Given the description of an element on the screen output the (x, y) to click on. 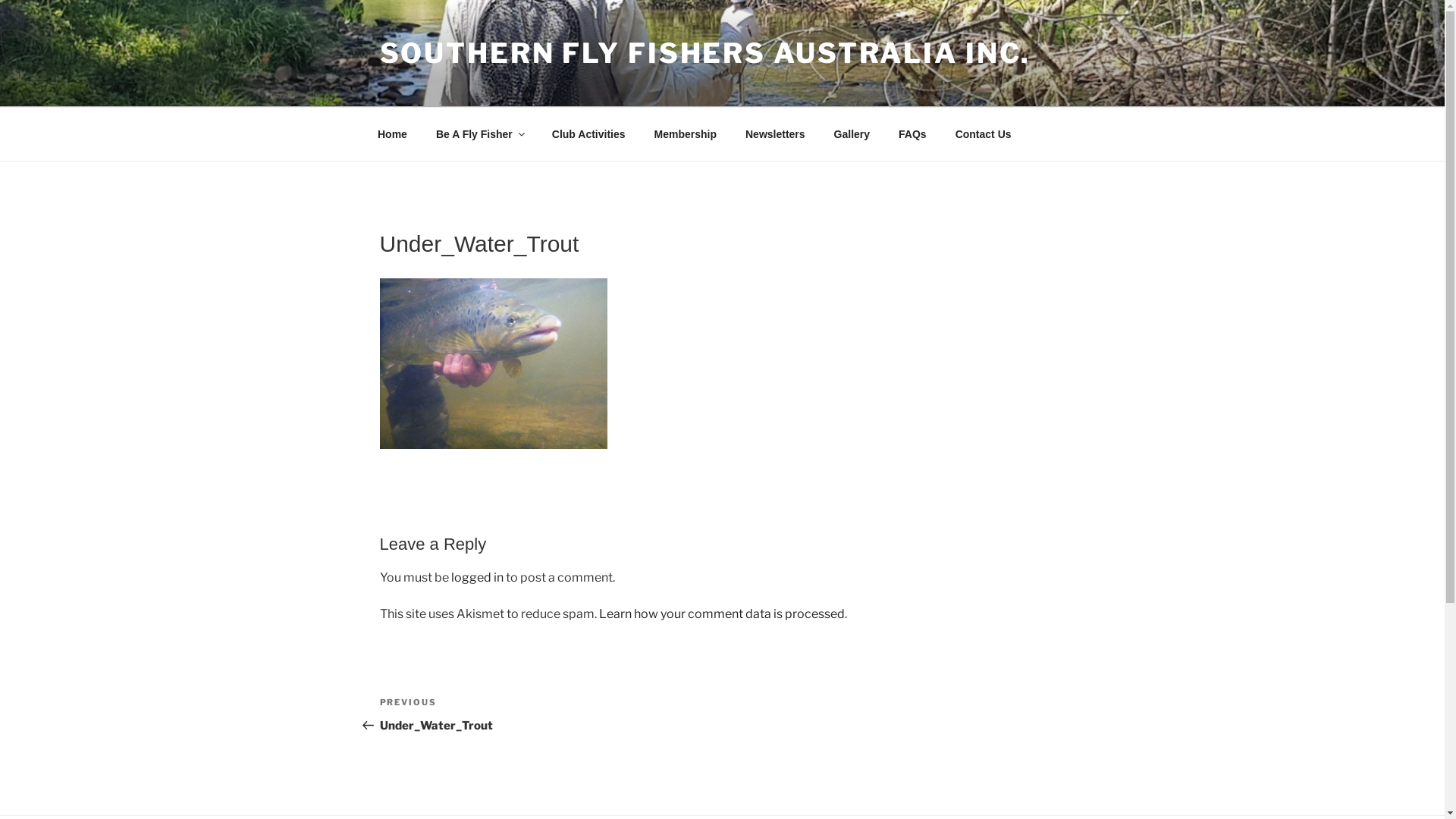
Gallery Element type: text (851, 133)
Be A Fly Fisher Element type: text (479, 133)
Previous Post
PREVIOUS
Under_Water_Trout Element type: text (550, 714)
Membership Element type: text (684, 133)
Newsletters Element type: text (775, 133)
Home Element type: text (392, 133)
Learn how your comment data is processed Element type: text (721, 613)
Contact Us Element type: text (982, 133)
FAQs Element type: text (912, 133)
logged in Element type: text (476, 577)
SOUTHERN FLY FISHERS AUSTRALIA INC. Element type: text (704, 52)
Club Activities Element type: text (588, 133)
